Given the description of an element on the screen output the (x, y) to click on. 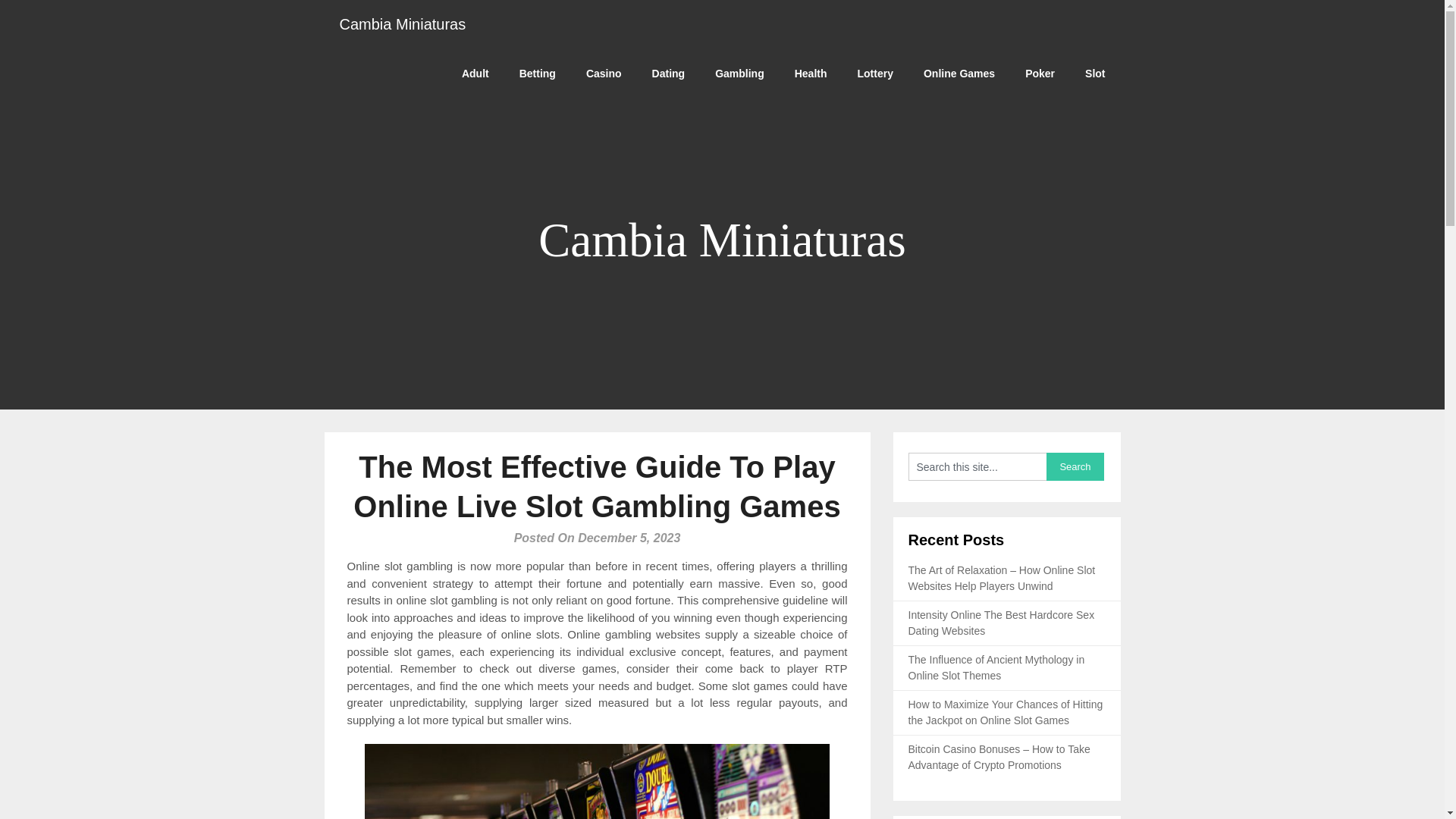
Online Games (959, 73)
Search (1075, 466)
Dating (668, 73)
Gambling (739, 73)
Search this site... (977, 466)
Betting (536, 73)
Search (1075, 466)
Adult (474, 73)
Lottery (875, 73)
Cambia Miniaturas (402, 24)
Casino (603, 73)
Intensity Online The Best Hardcore Sex Dating Websites (1001, 623)
Poker (1040, 73)
Health (810, 73)
